Given the description of an element on the screen output the (x, y) to click on. 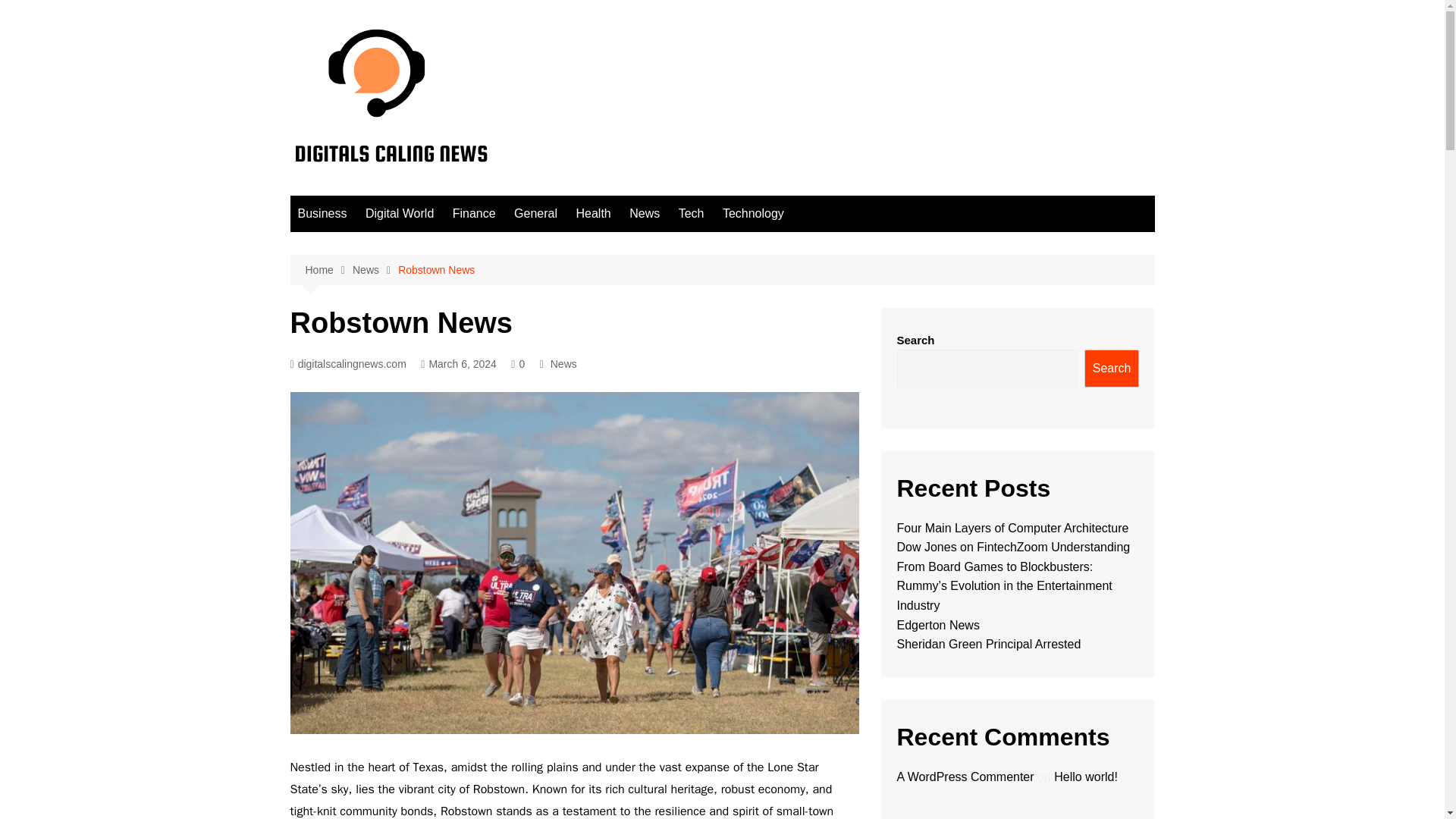
General (535, 213)
News (643, 213)
Robstown News (435, 269)
Digital World (399, 213)
Health (592, 213)
Technology (753, 213)
Finance (474, 213)
Tech (691, 213)
Home (328, 270)
digitalscalingnews.com (347, 364)
